Given the description of an element on the screen output the (x, y) to click on. 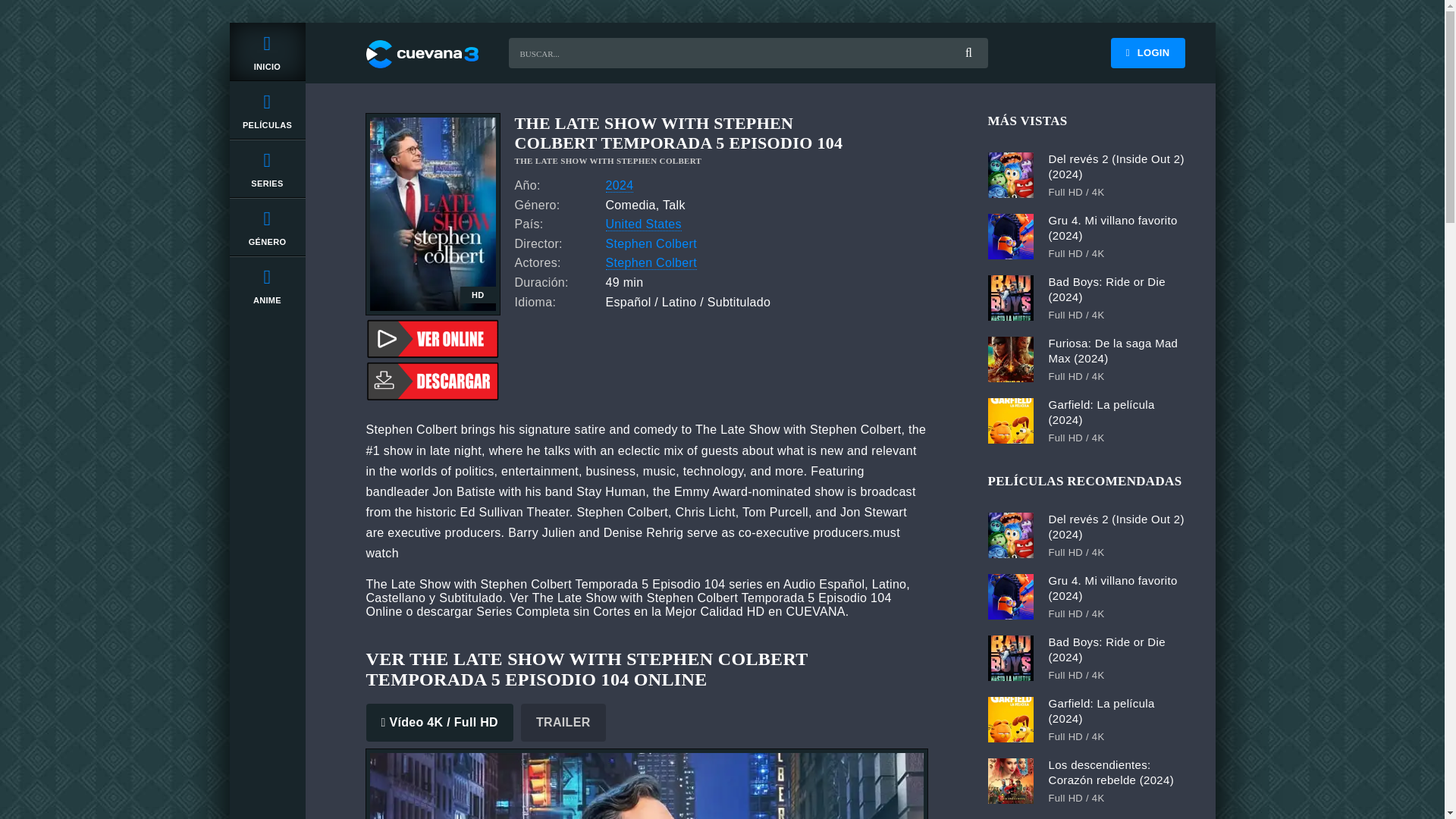
INICIO (266, 51)
Stephen Colbert (650, 263)
2024 (619, 185)
ANIME (266, 284)
SERIES (266, 168)
United States (643, 223)
